Given the description of an element on the screen output the (x, y) to click on. 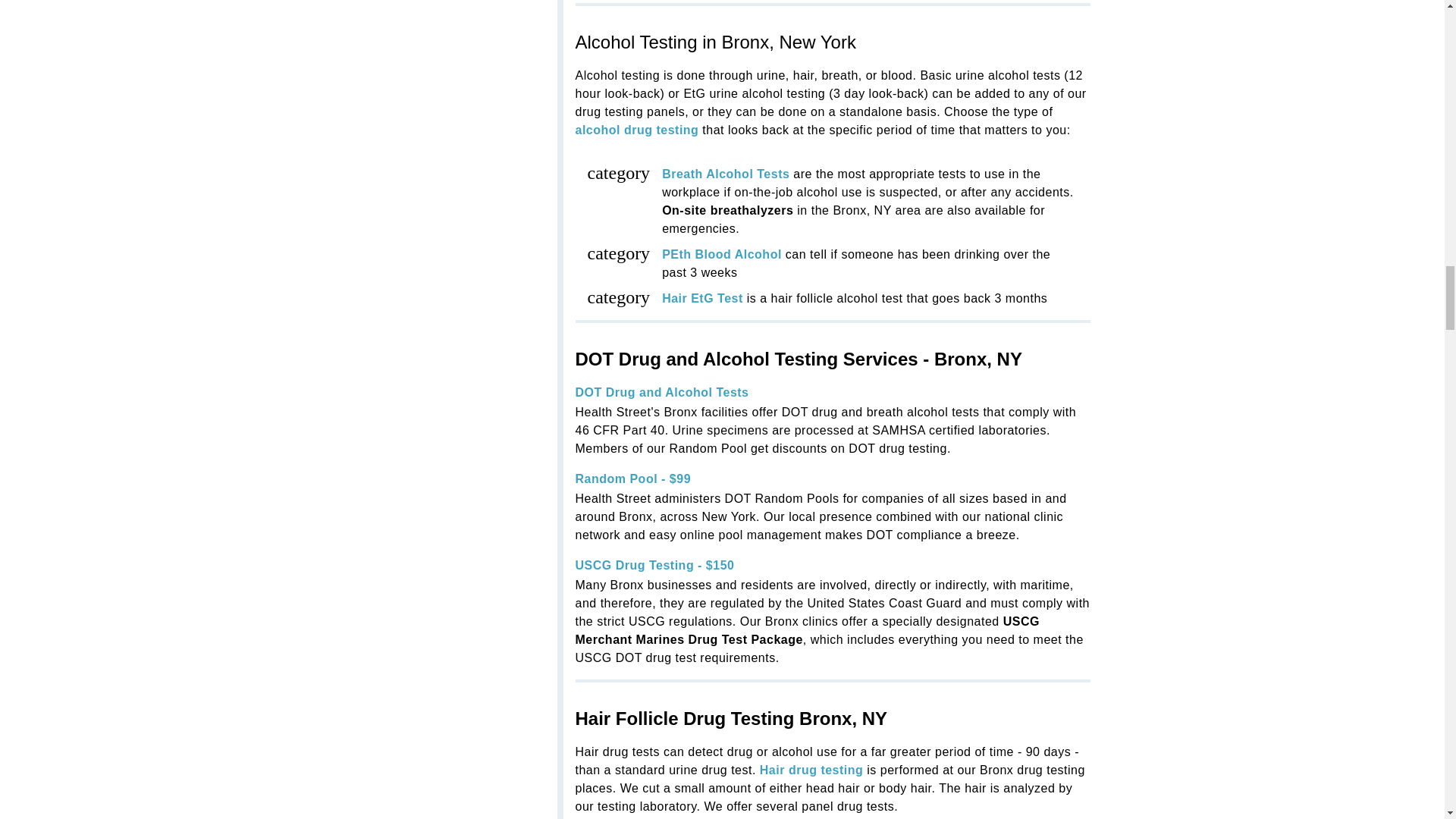
Alcohol Drug Testing (636, 129)
Breath Alcohol Tests (725, 173)
